Given the description of an element on the screen output the (x, y) to click on. 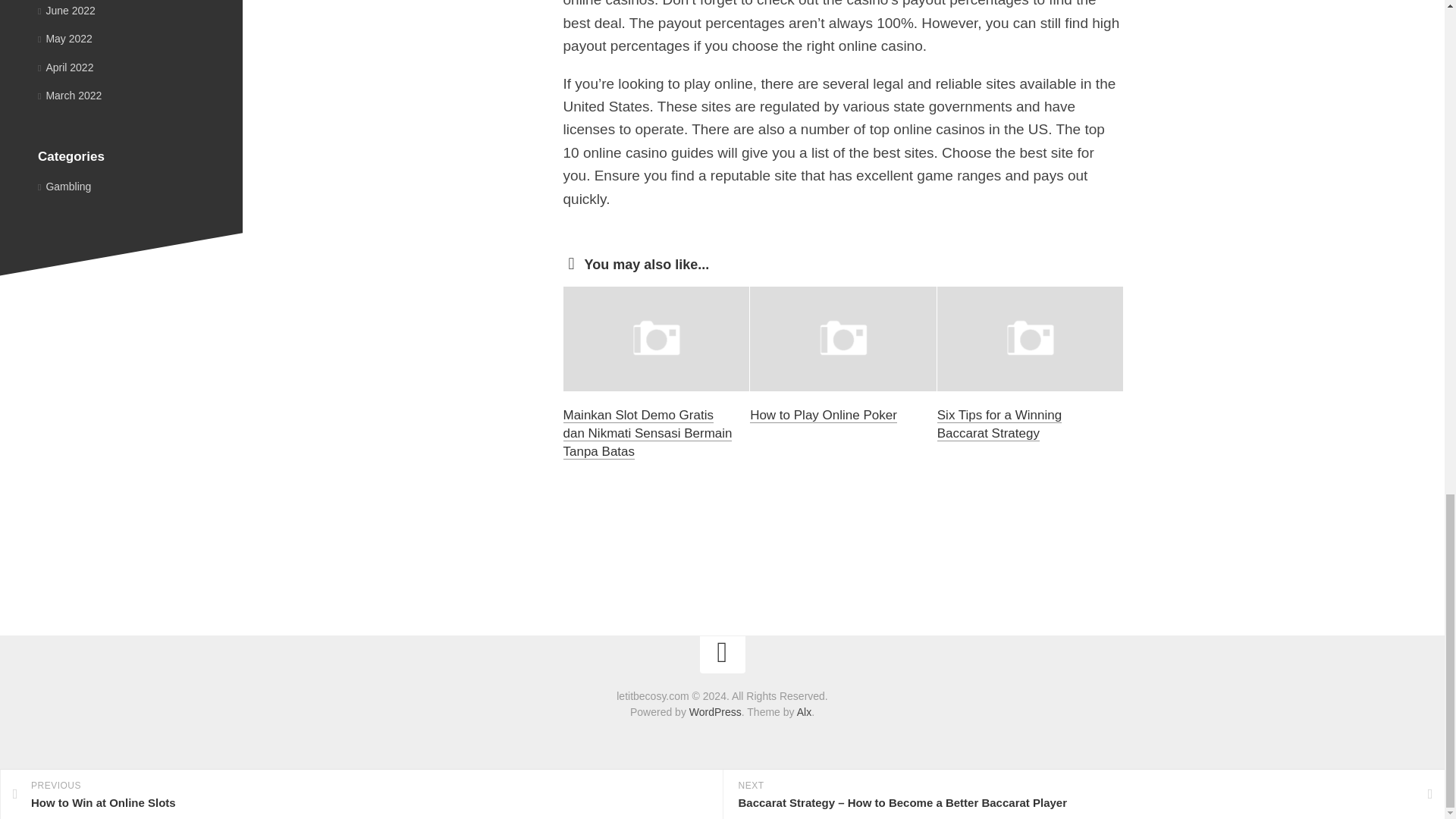
How to Play Online Poker (822, 414)
Six Tips for a Winning Baccarat Strategy (999, 423)
